Given the description of an element on the screen output the (x, y) to click on. 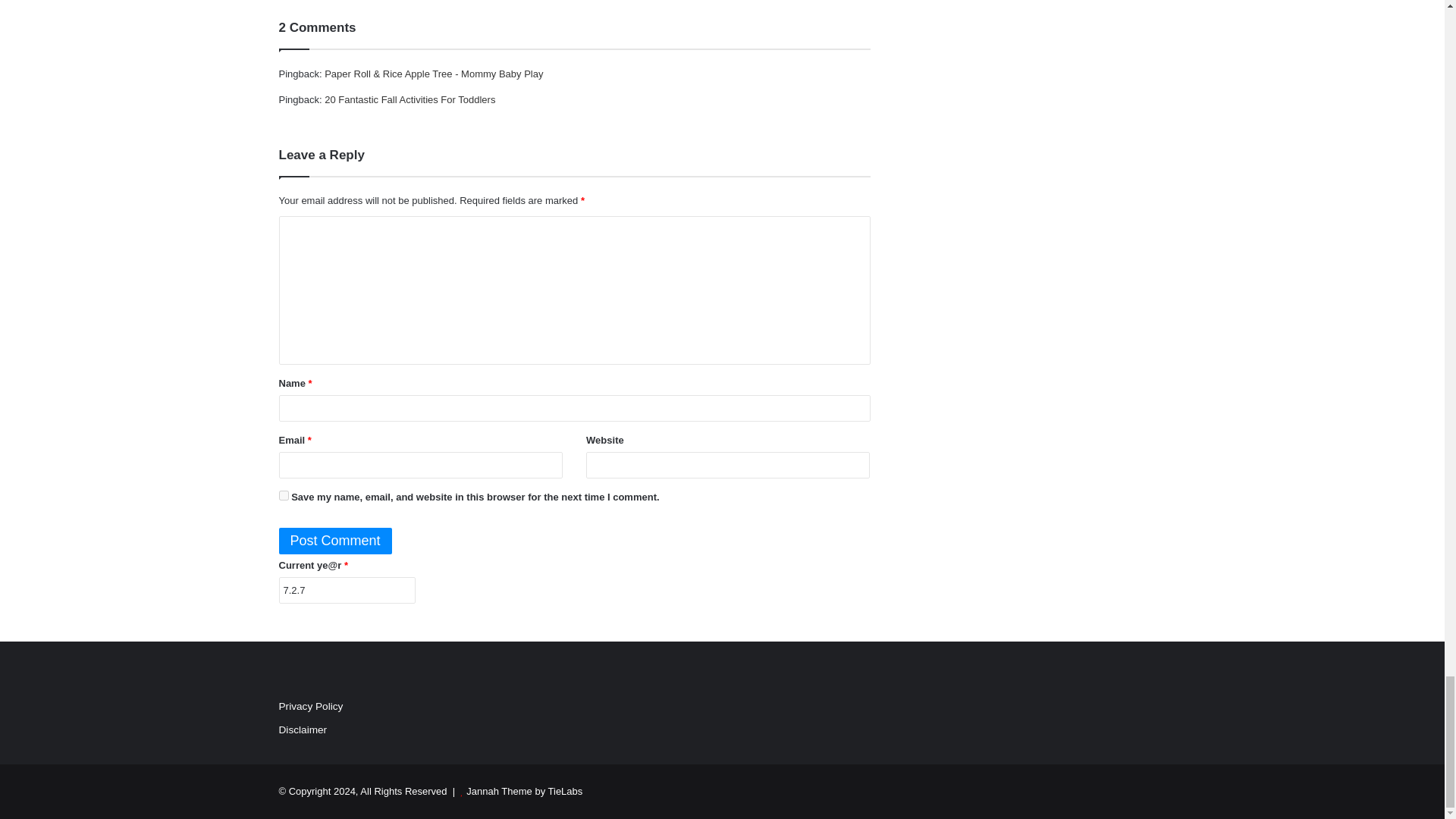
7.2.7 (346, 590)
yes (283, 495)
Post Comment (335, 540)
